Given the description of an element on the screen output the (x, y) to click on. 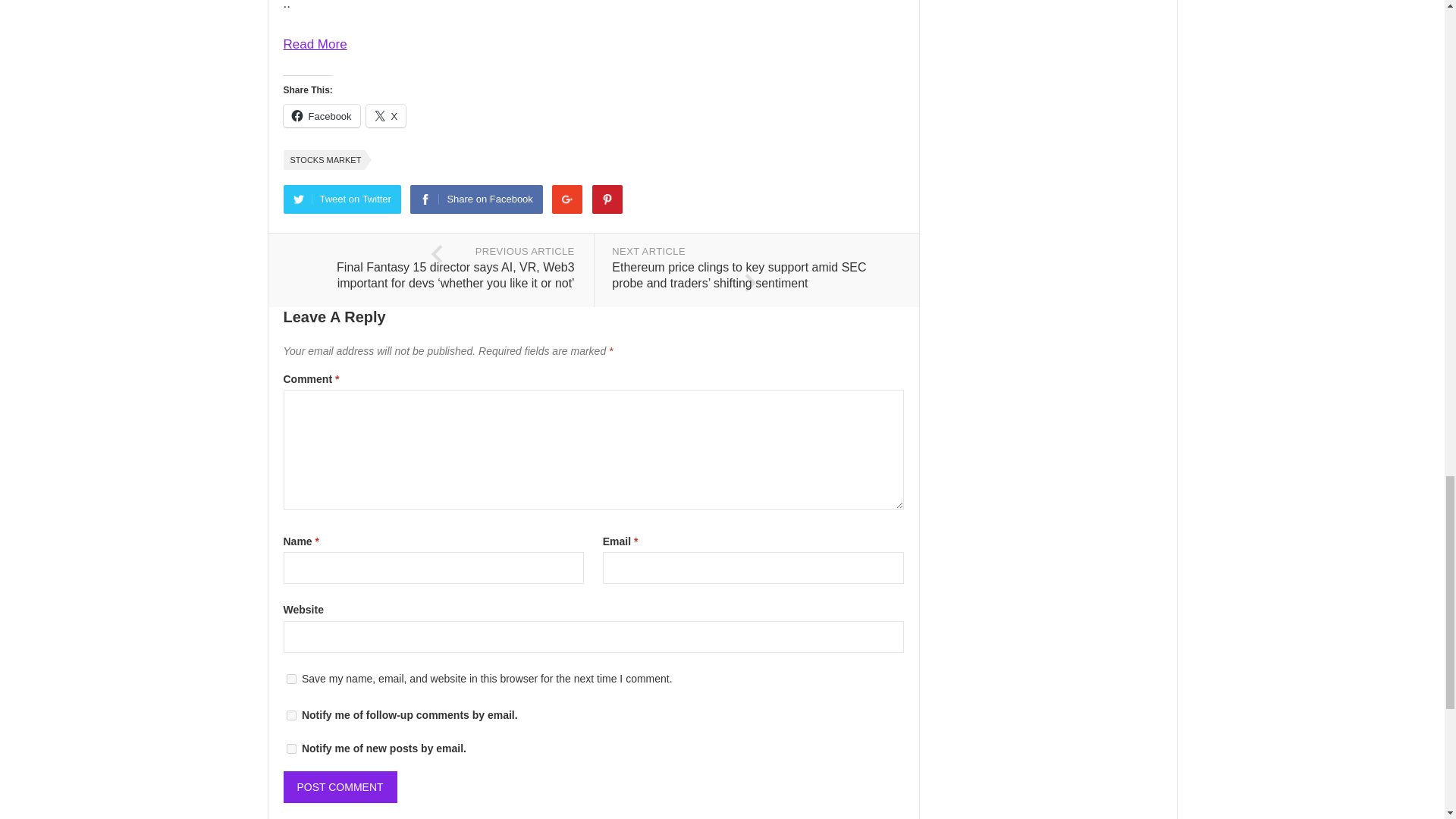
Click to share on Facebook (321, 115)
Click to share on X (386, 115)
Post Comment (340, 787)
subscribe (291, 748)
Pinterest (607, 199)
Facebook (321, 115)
yes (291, 678)
Share on Facebook (475, 199)
Post Comment (340, 787)
Read More (315, 43)
